Given the description of an element on the screen output the (x, y) to click on. 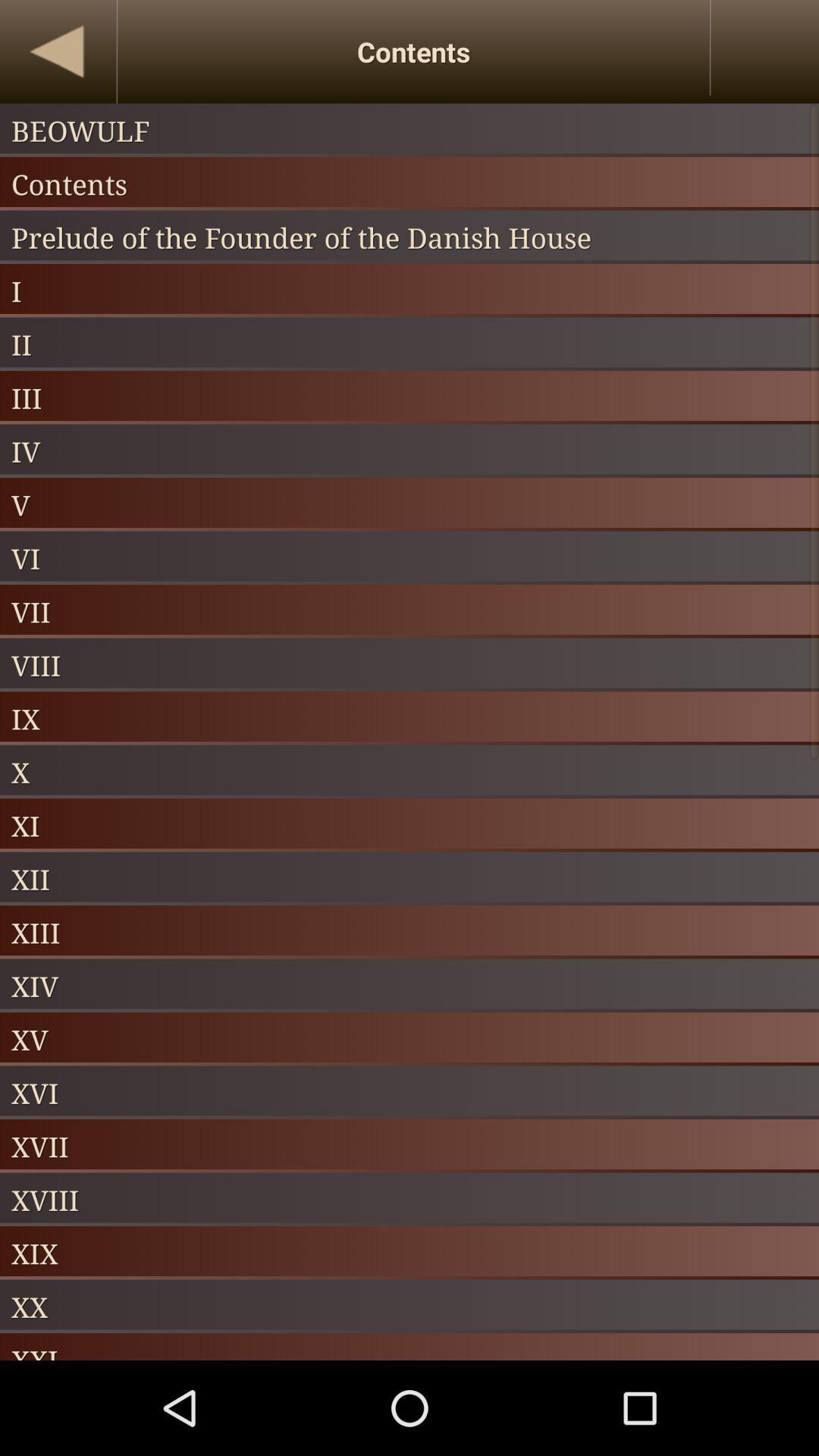
scroll to the viii item (409, 665)
